Given the description of an element on the screen output the (x, y) to click on. 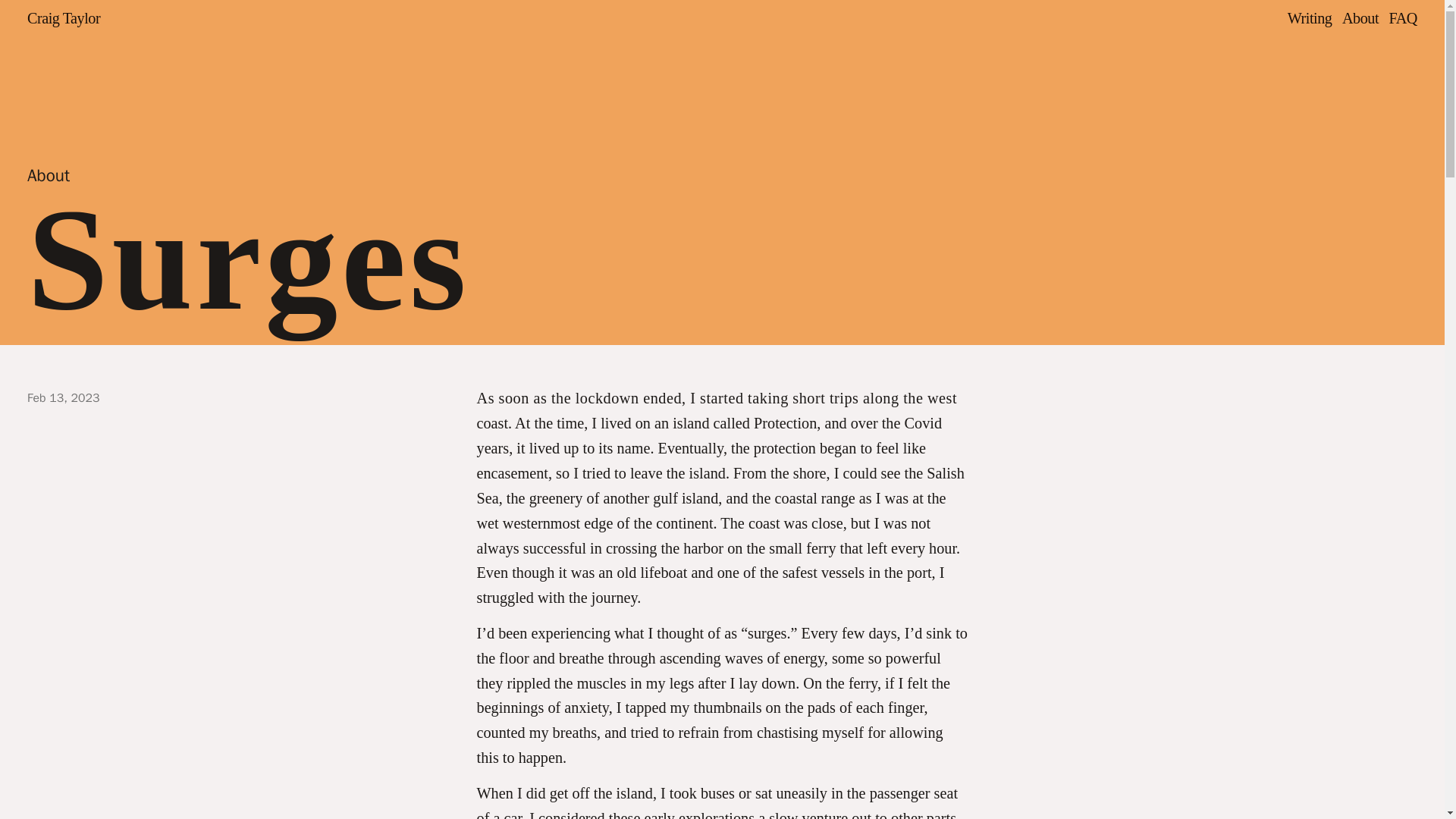
About (1360, 18)
Craig Taylor (63, 17)
FAQ (1403, 18)
Writing (1309, 18)
